Given the description of an element on the screen output the (x, y) to click on. 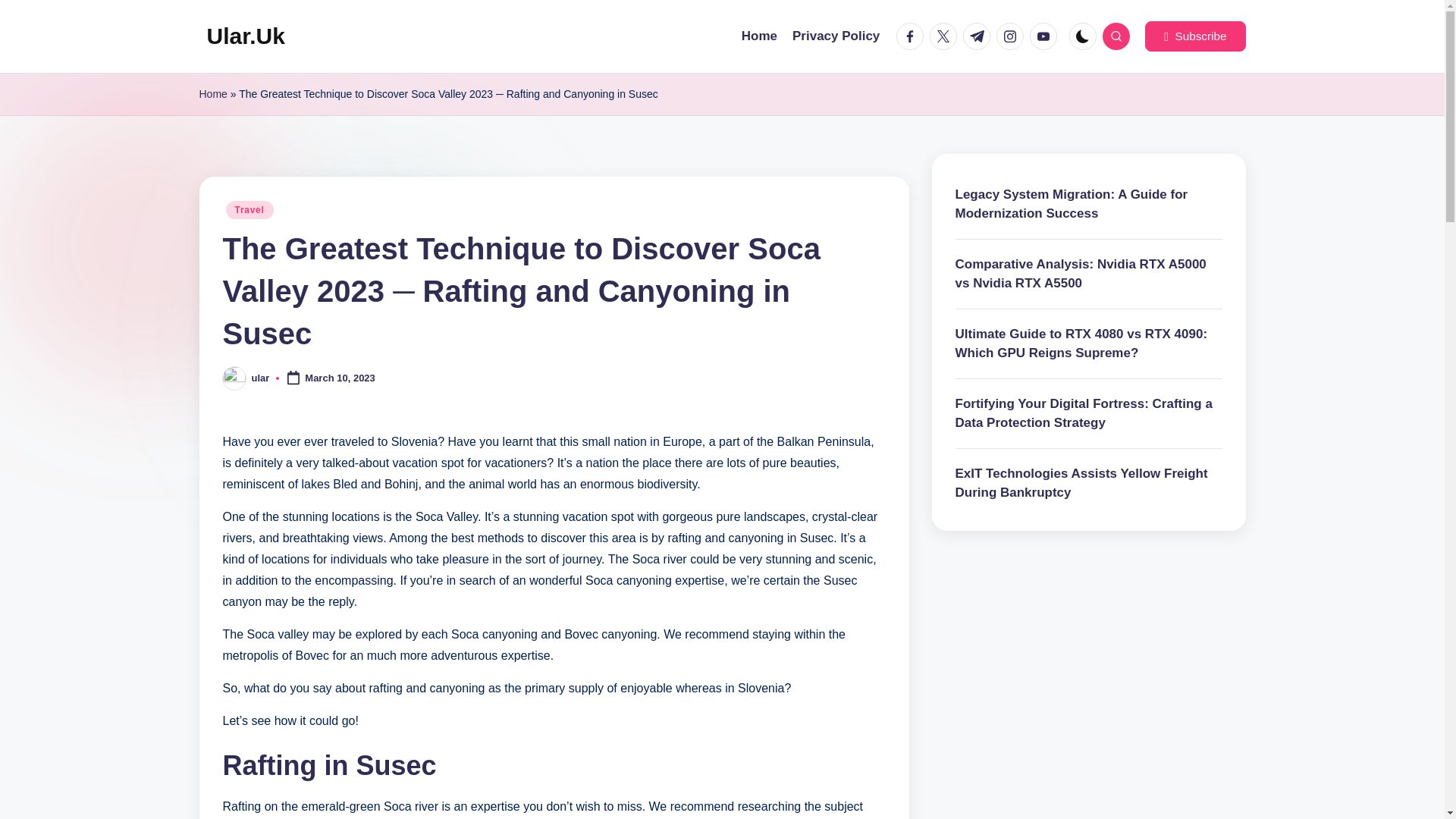
t.me (978, 35)
ular (260, 378)
Home (759, 36)
ExIT Technologies Assists Yellow Freight During Bankruptcy (1089, 483)
Travel (249, 208)
Comparative Analysis: Nvidia RTX A5000 vs Nvidia RTX A5500 (1089, 273)
facebook.com (913, 35)
View all posts by ular (260, 378)
Legacy System Migration: A Guide for Modernization Success (1089, 204)
